Given the description of an element on the screen output the (x, y) to click on. 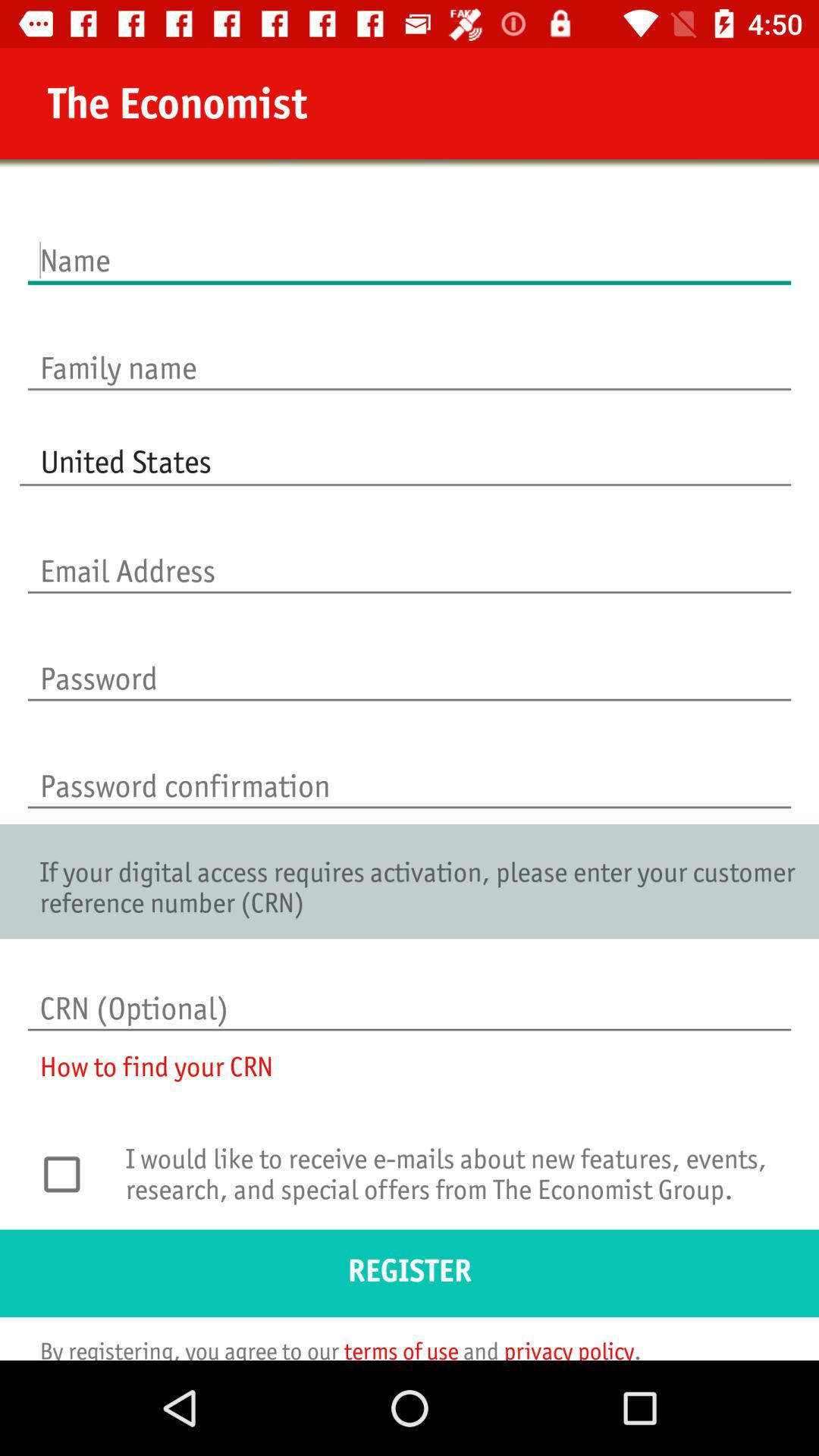
toggle receive option (69, 1174)
